Given the description of an element on the screen output the (x, y) to click on. 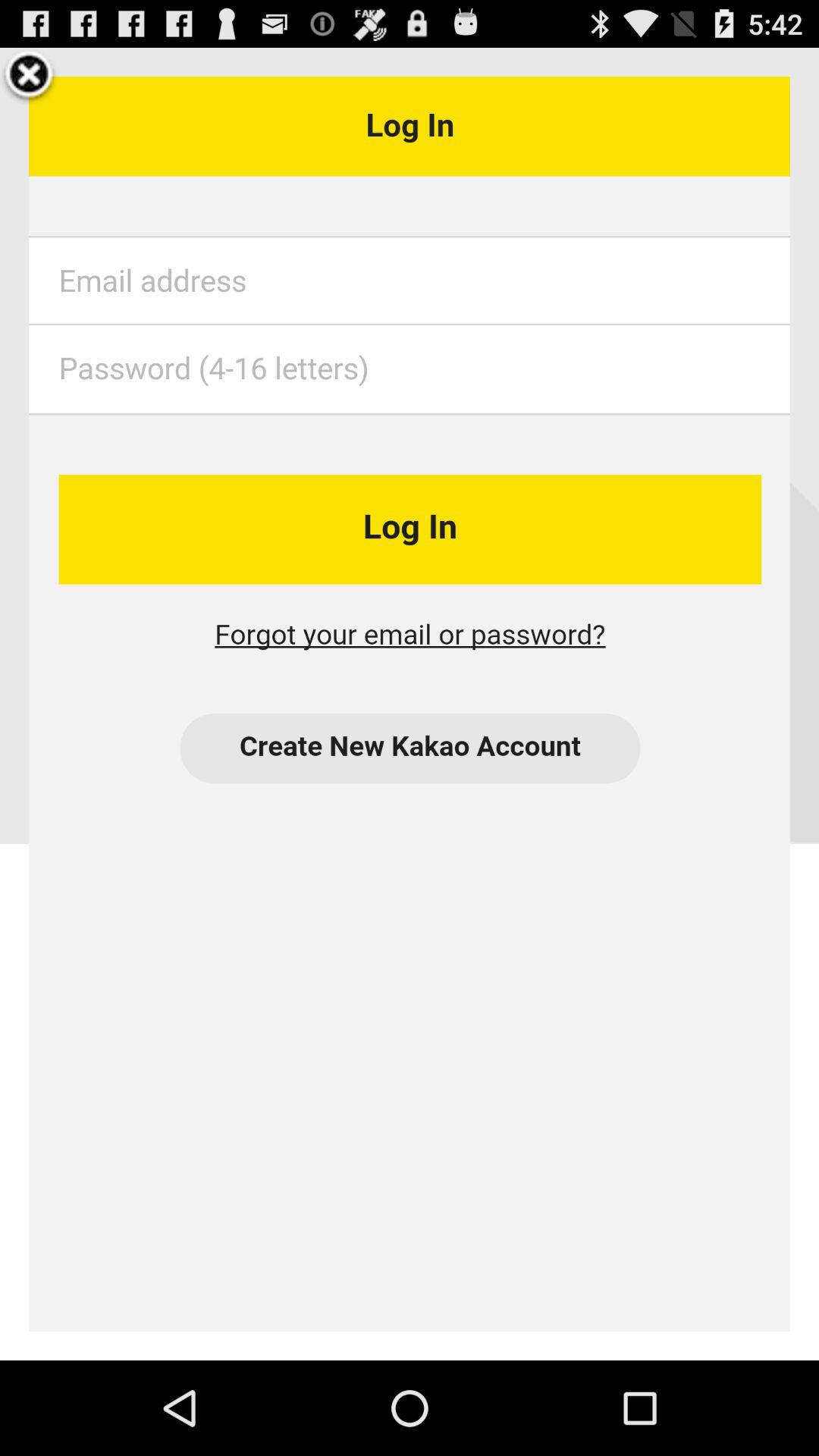
cancel login (29, 76)
